Given the description of an element on the screen output the (x, y) to click on. 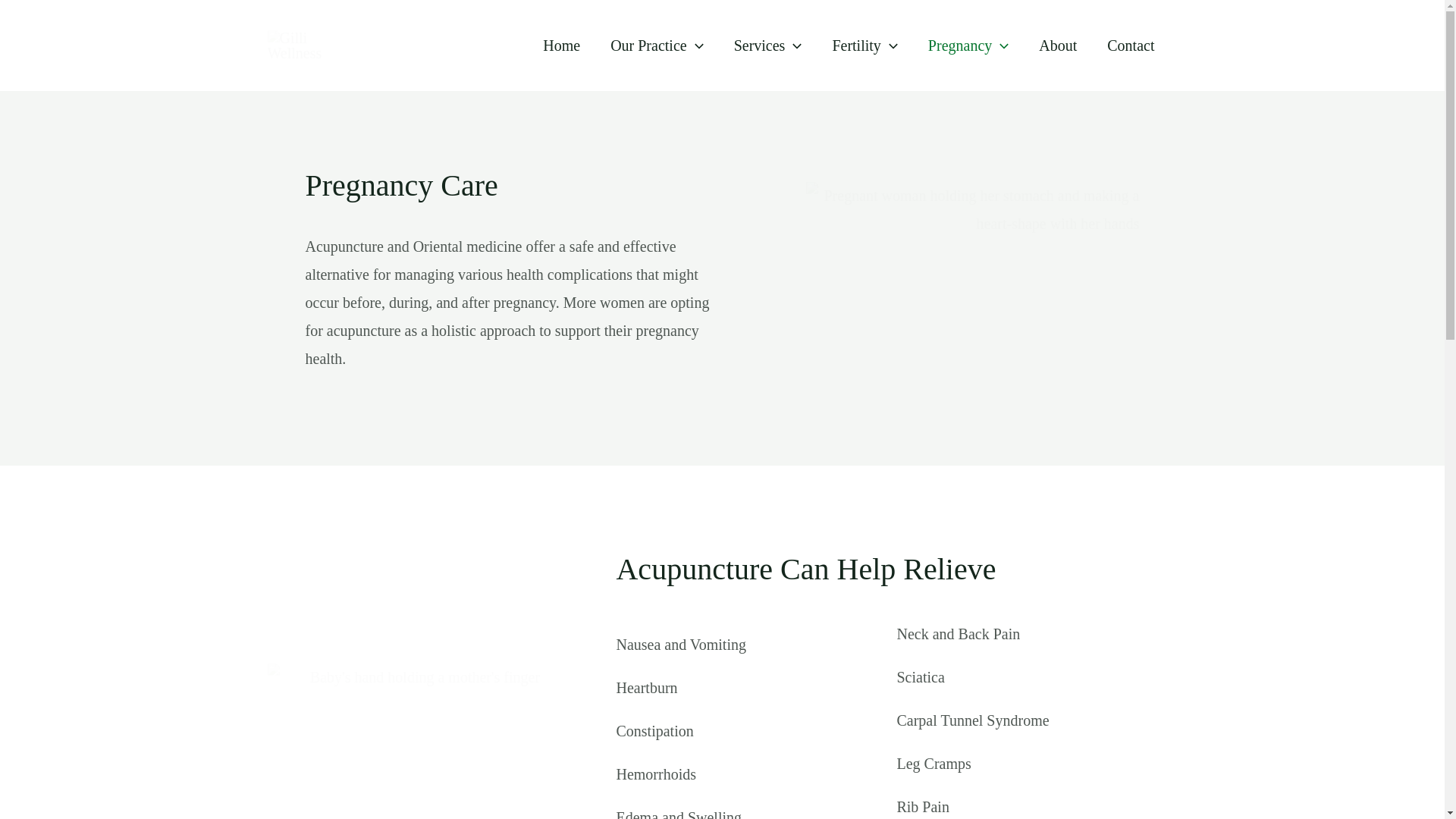
Fertility (864, 45)
Services (767, 45)
Pregnancy (967, 45)
Our Practice (657, 45)
